Given the description of an element on the screen output the (x, y) to click on. 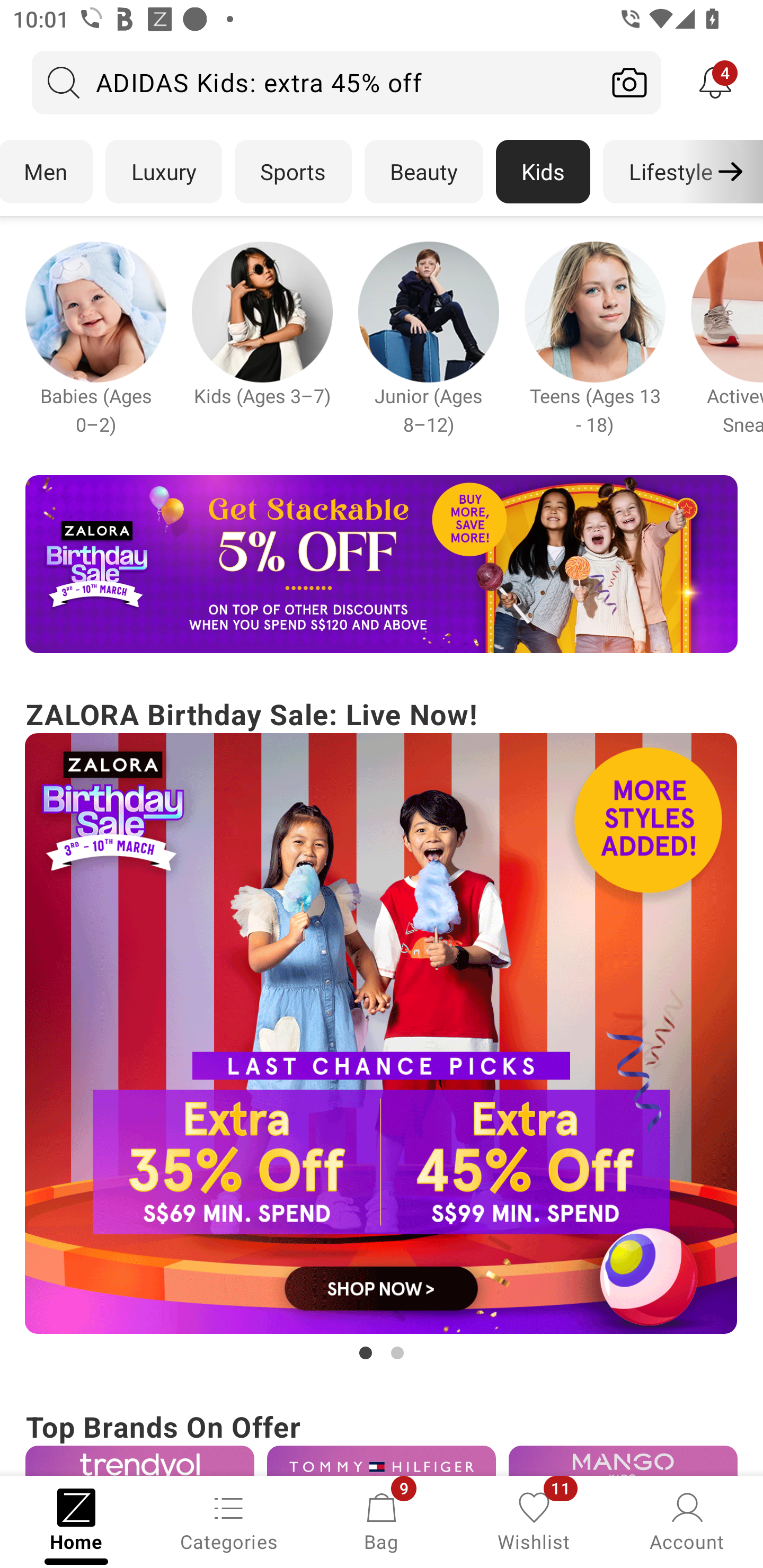
ADIDAS Kids: extra 45% off (314, 82)
Men (46, 171)
Luxury (163, 171)
Sports (293, 171)
Beauty (423, 171)
Kids (542, 171)
Lifestyle (669, 171)
Campaign banner (95, 311)
Campaign banner (261, 311)
Campaign banner (428, 311)
Campaign banner (594, 311)
Campaign banner (381, 564)
ZALORA Birthday Sale: Live Now! Campaign banner (381, 1028)
Campaign banner (381, 1033)
Campaign banner (139, 1460)
Campaign banner (381, 1460)
Campaign banner (622, 1460)
Categories (228, 1519)
Bag, 9 new notifications Bag (381, 1519)
Wishlist, 11 new notifications Wishlist (533, 1519)
Account (686, 1519)
